Given the description of an element on the screen output the (x, y) to click on. 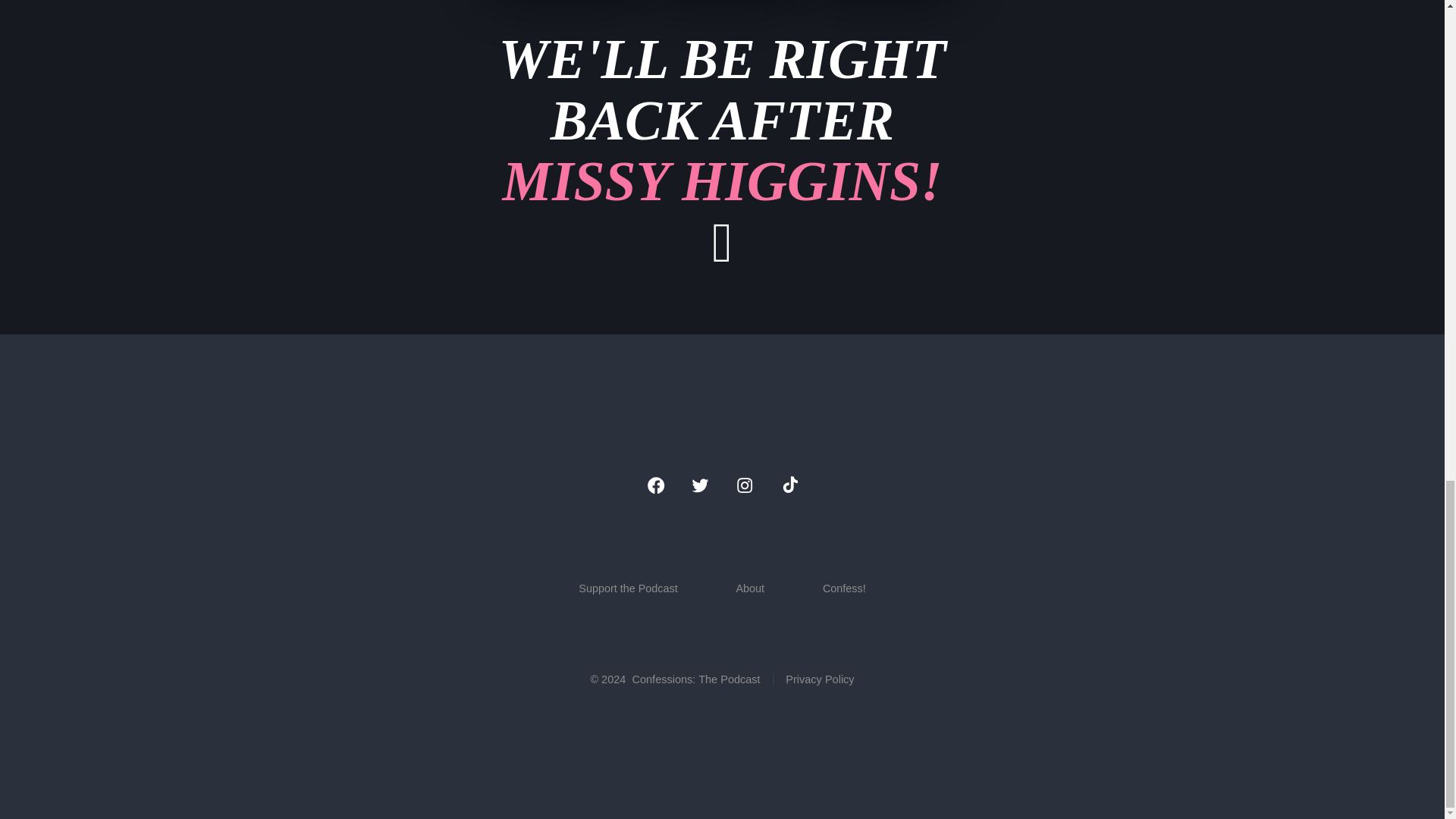
Open Facebook in a new tab (655, 484)
Open Instagram in a new tab (743, 484)
Support the Podcast (628, 587)
Open Twitter in a new tab (700, 484)
Confess! (844, 587)
Open TikTok in a new tab (788, 484)
Privacy Policy (720, 150)
About (813, 679)
